Given the description of an element on the screen output the (x, y) to click on. 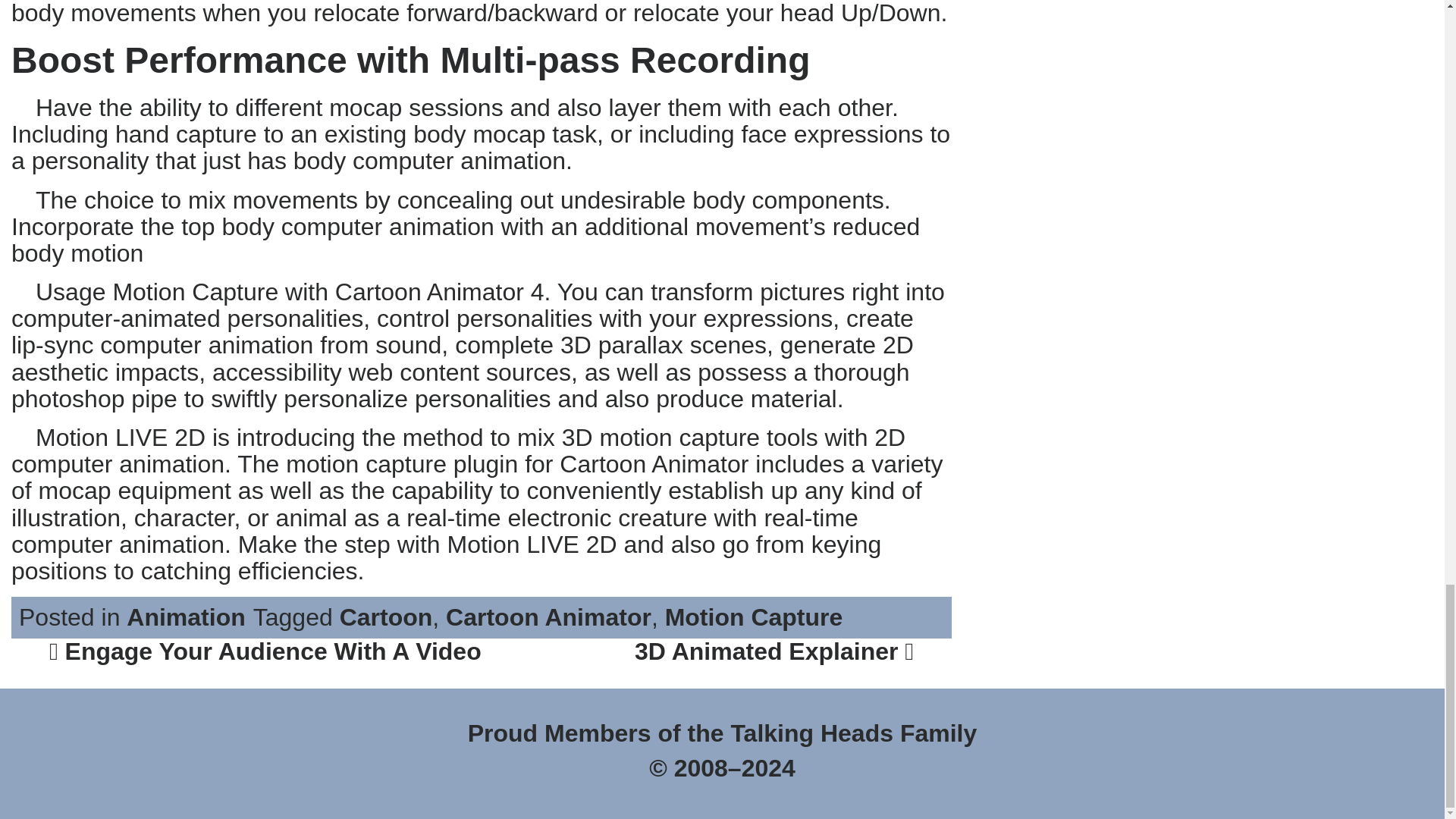
 Engage Your Audience With A Video (265, 651)
Motion Capture (754, 616)
Animation (185, 616)
3D Animated Explainer  (774, 651)
Cartoon (385, 616)
Cartoon Animator (547, 616)
